Given the description of an element on the screen output the (x, y) to click on. 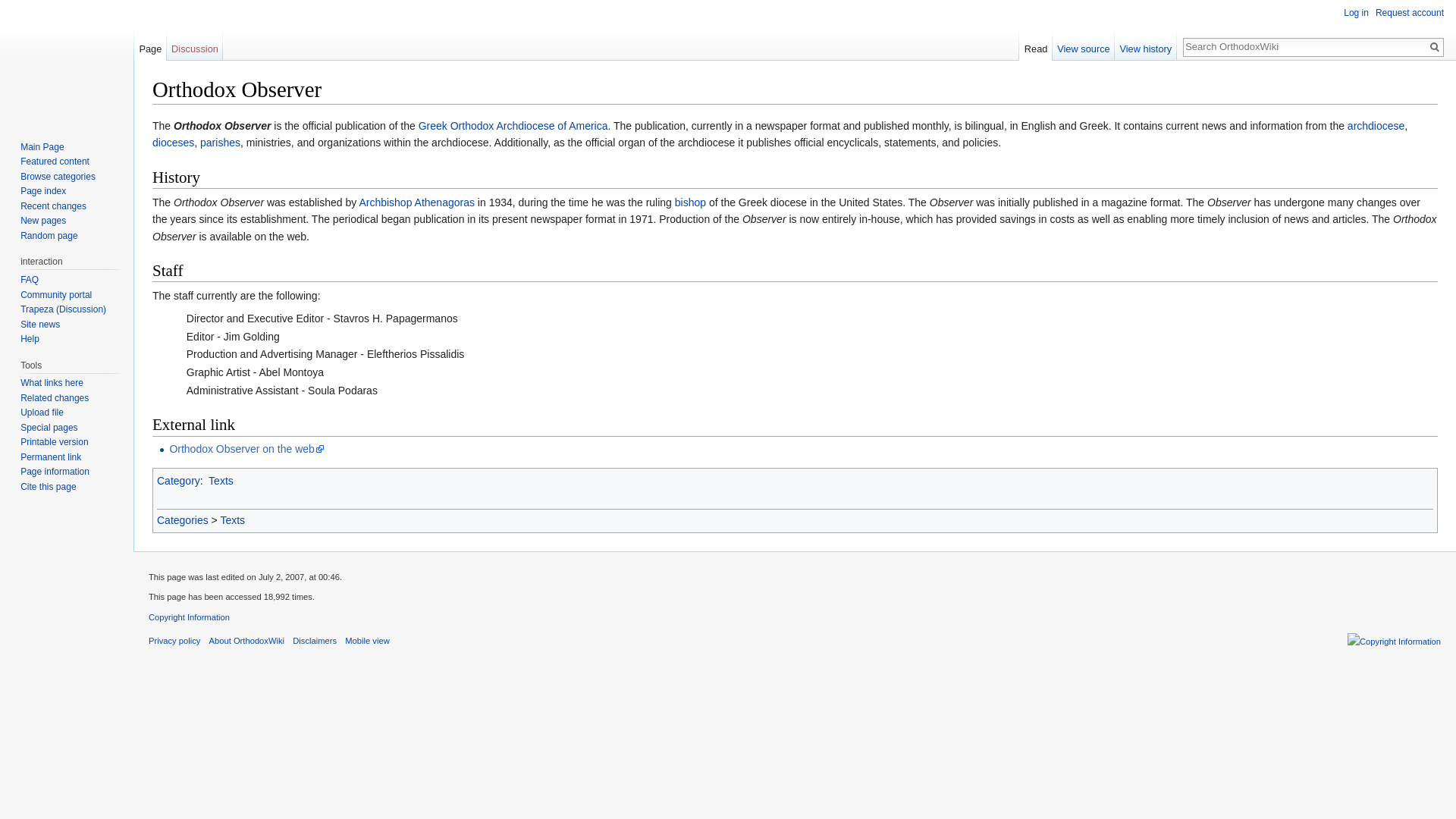
Go (1434, 46)
Go (1434, 46)
New pages (42, 220)
Help (29, 338)
Greek Orthodox Archdiocese of America (513, 125)
Recent changes (52, 205)
GOARCH (513, 125)
Search (1434, 46)
Athenagoras (444, 202)
